Given the description of an element on the screen output the (x, y) to click on. 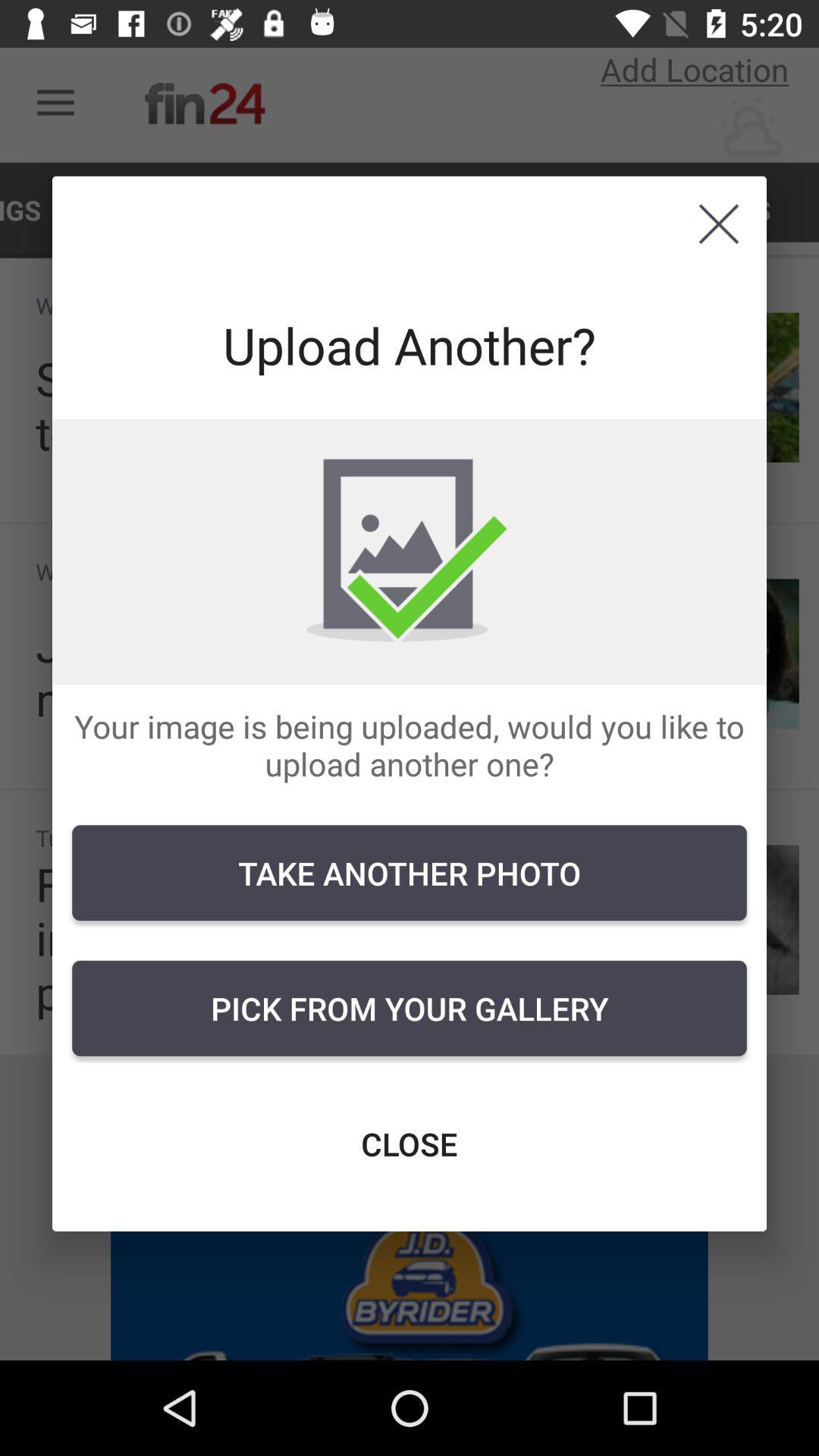
jump until take another photo (409, 872)
